Given the description of an element on the screen output the (x, y) to click on. 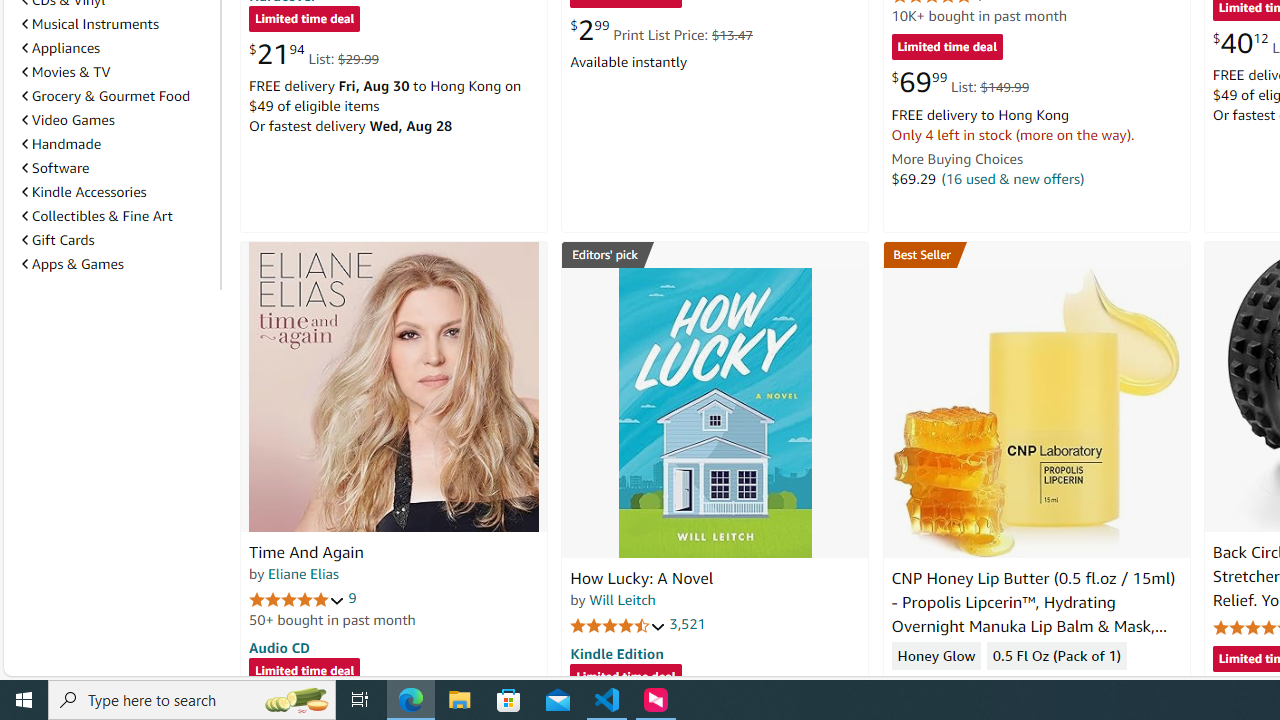
Collectibles & Fine Art (96, 215)
$2.99 Print List Price: $13.47 (660, 30)
Handmade (117, 143)
Movies & TV (117, 71)
Video Games (68, 119)
Grocery & Gourmet Food (117, 95)
Eliane Elias (303, 573)
Appliances (117, 48)
Software (55, 168)
Musical Instruments (89, 24)
Grocery & Gourmet Food (105, 96)
3,521 (687, 624)
Will Leitch (621, 599)
Musical Instruments (117, 23)
Software (117, 167)
